Given the description of an element on the screen output the (x, y) to click on. 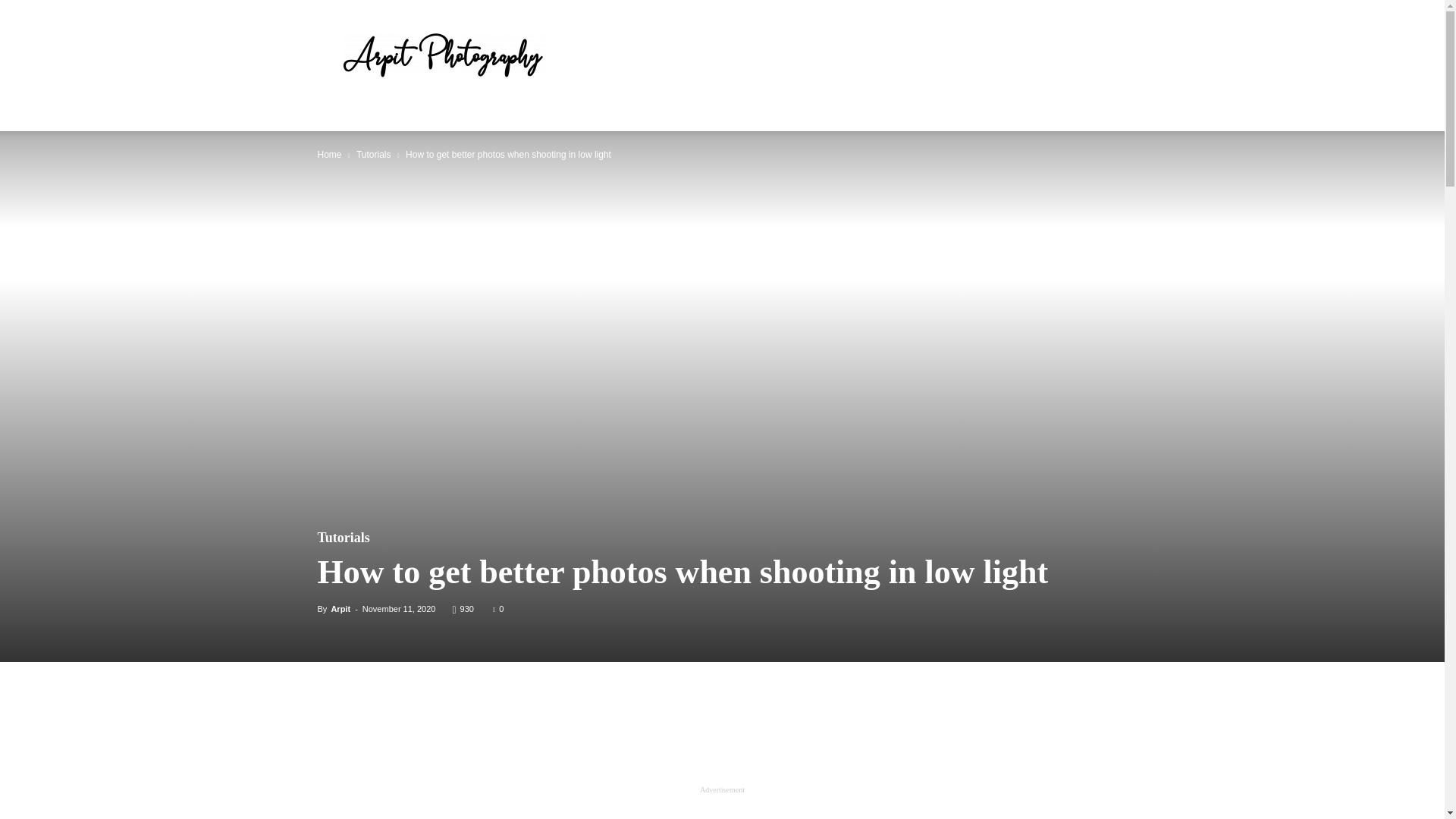
Home (339, 113)
Gear (385, 113)
